Given the description of an element on the screen output the (x, y) to click on. 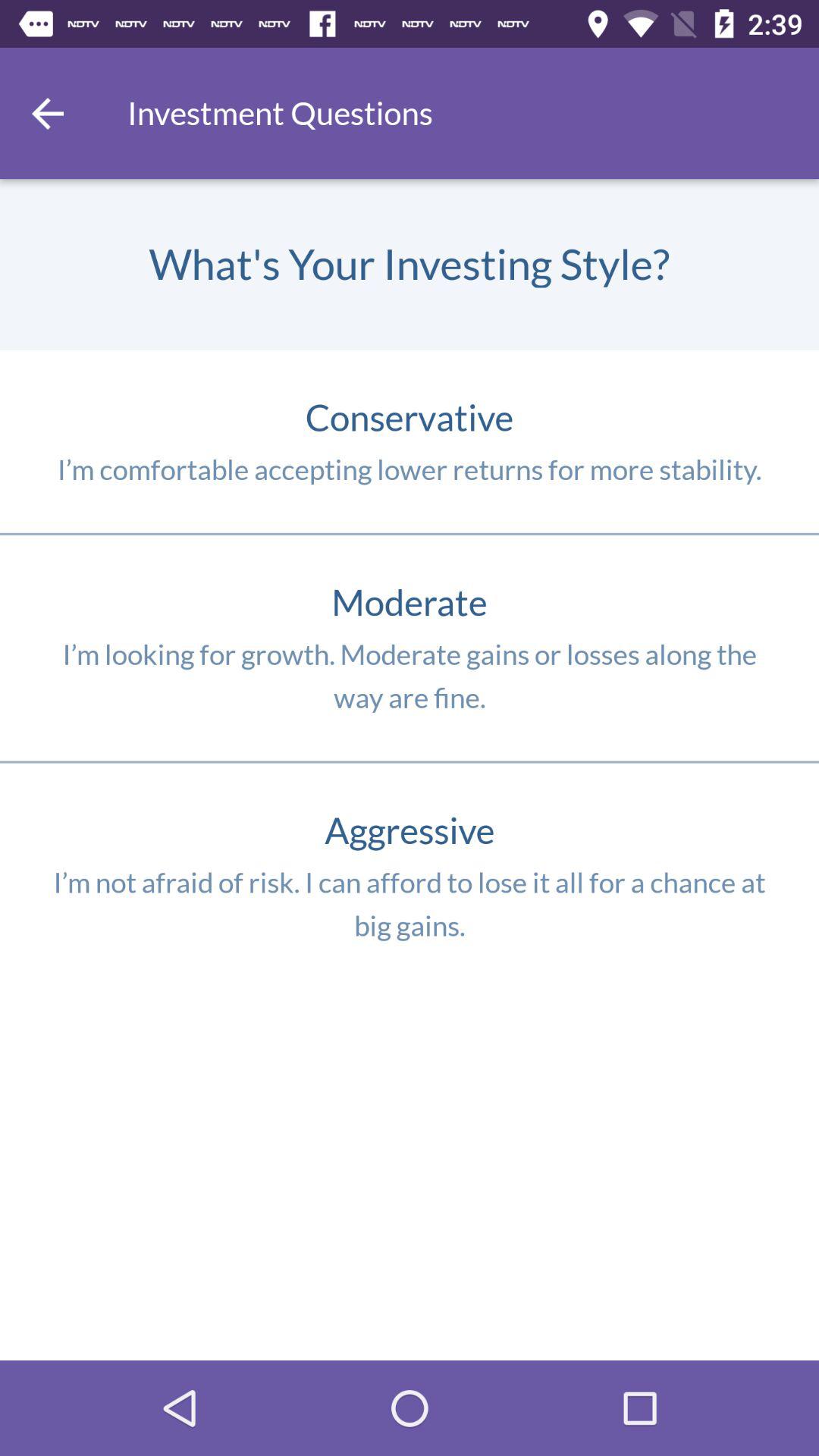
turn off item next to the investment questions item (47, 113)
